Given the description of an element on the screen output the (x, y) to click on. 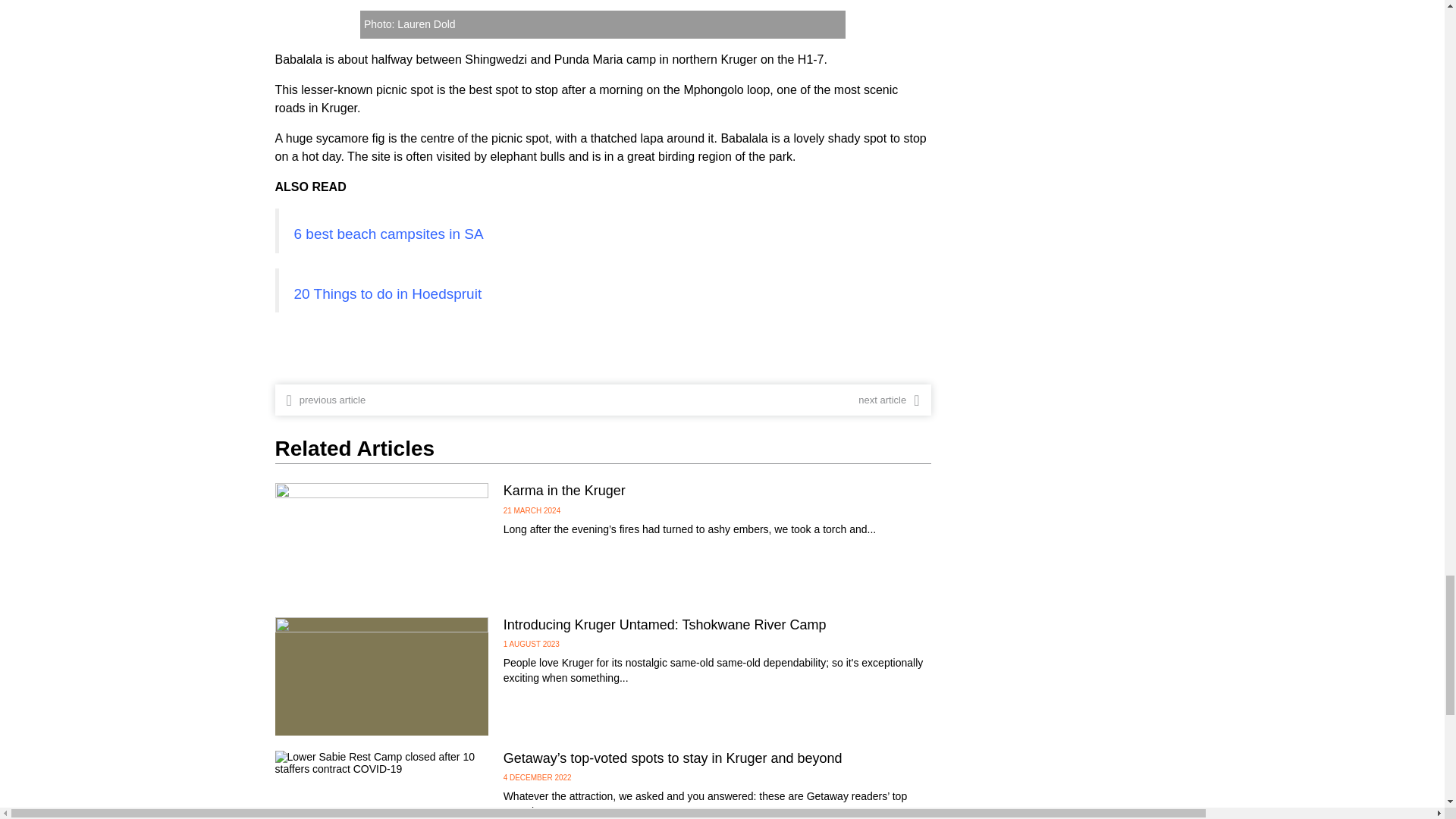
Karma in the Kruger (381, 542)
Introducing Kruger Untamed: Tshokwane River Camp (665, 624)
Introducing Kruger Untamed: Tshokwane River Camp (381, 676)
Karma in the Kruger (564, 490)
